Given the description of an element on the screen output the (x, y) to click on. 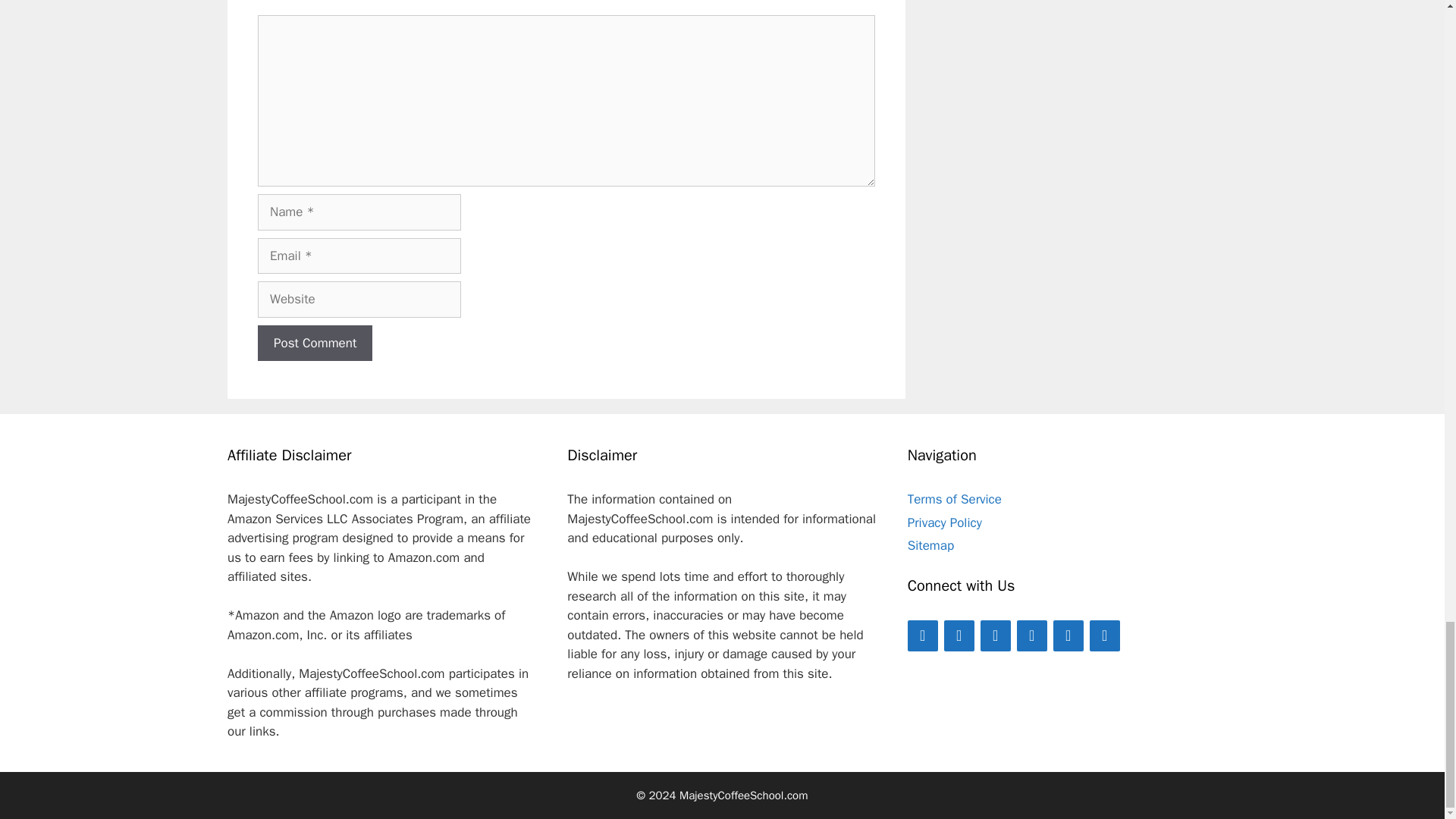
Twitter (958, 635)
Pinterest (1104, 635)
Post Comment (314, 343)
Reddit (1031, 635)
Instagram (1067, 635)
Facebook (922, 635)
YouTube (994, 635)
